Given the description of an element on the screen output the (x, y) to click on. 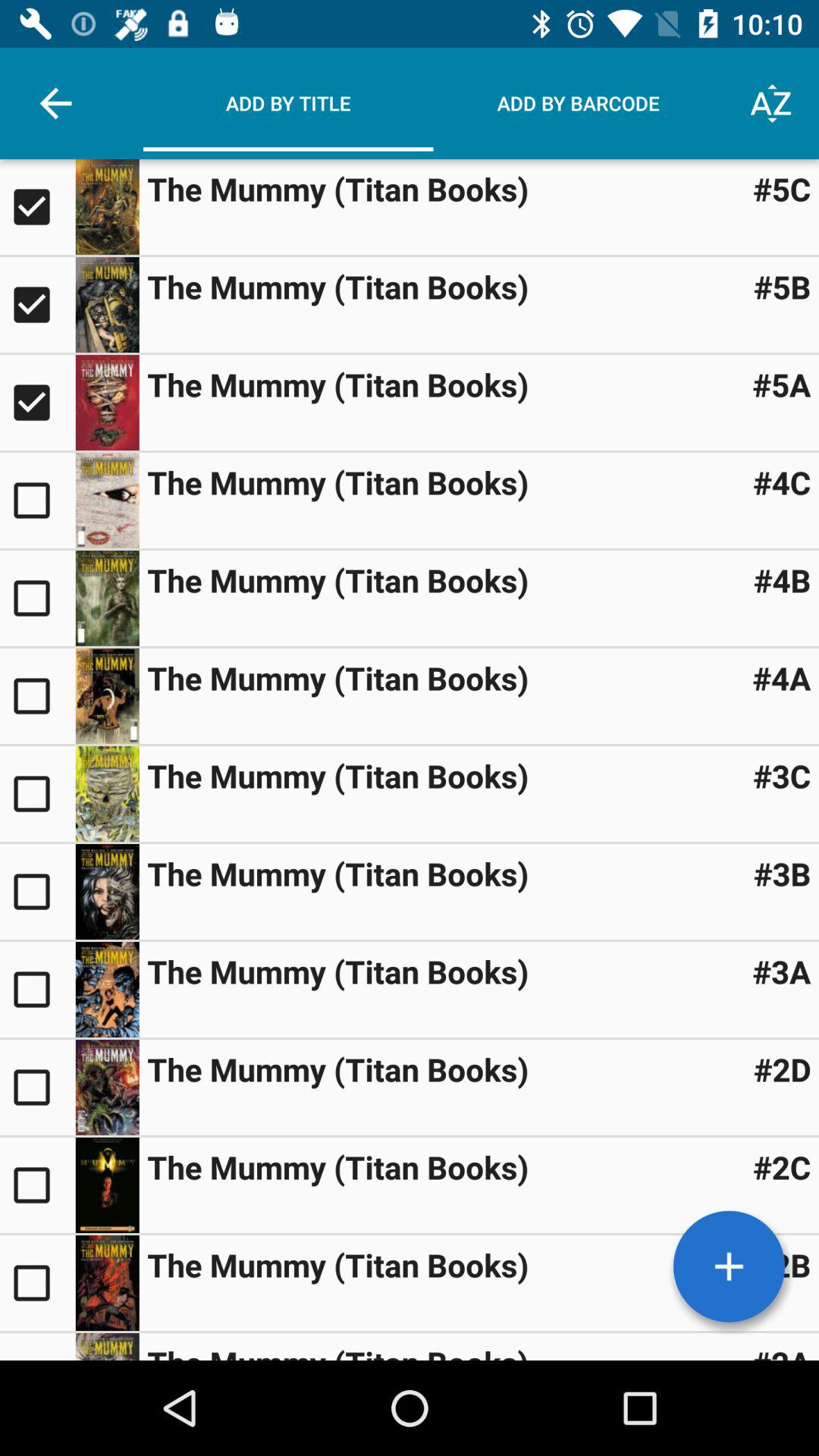
add comic to collection (37, 500)
